Given the description of an element on the screen output the (x, y) to click on. 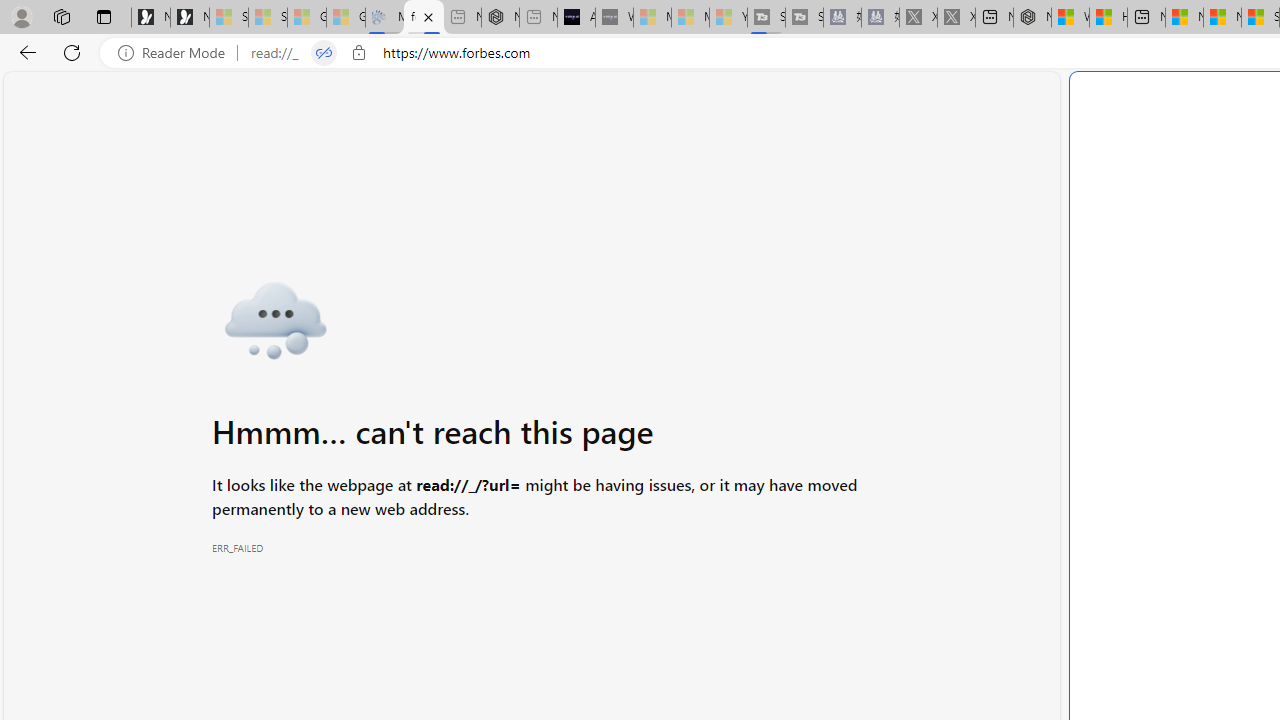
Microsoft Start Sports - Sleeping (651, 17)
Reader Mode (177, 53)
Tabs in split screen (323, 53)
X - Sleeping (956, 17)
Nordace - #1 Japanese Best-Seller - Siena Smart Backpack (500, 17)
Huge shark washes ashore at New York City beach | Watch (1108, 17)
View site information (358, 53)
New tab - Sleeping (537, 17)
